Given the description of an element on the screen output the (x, y) to click on. 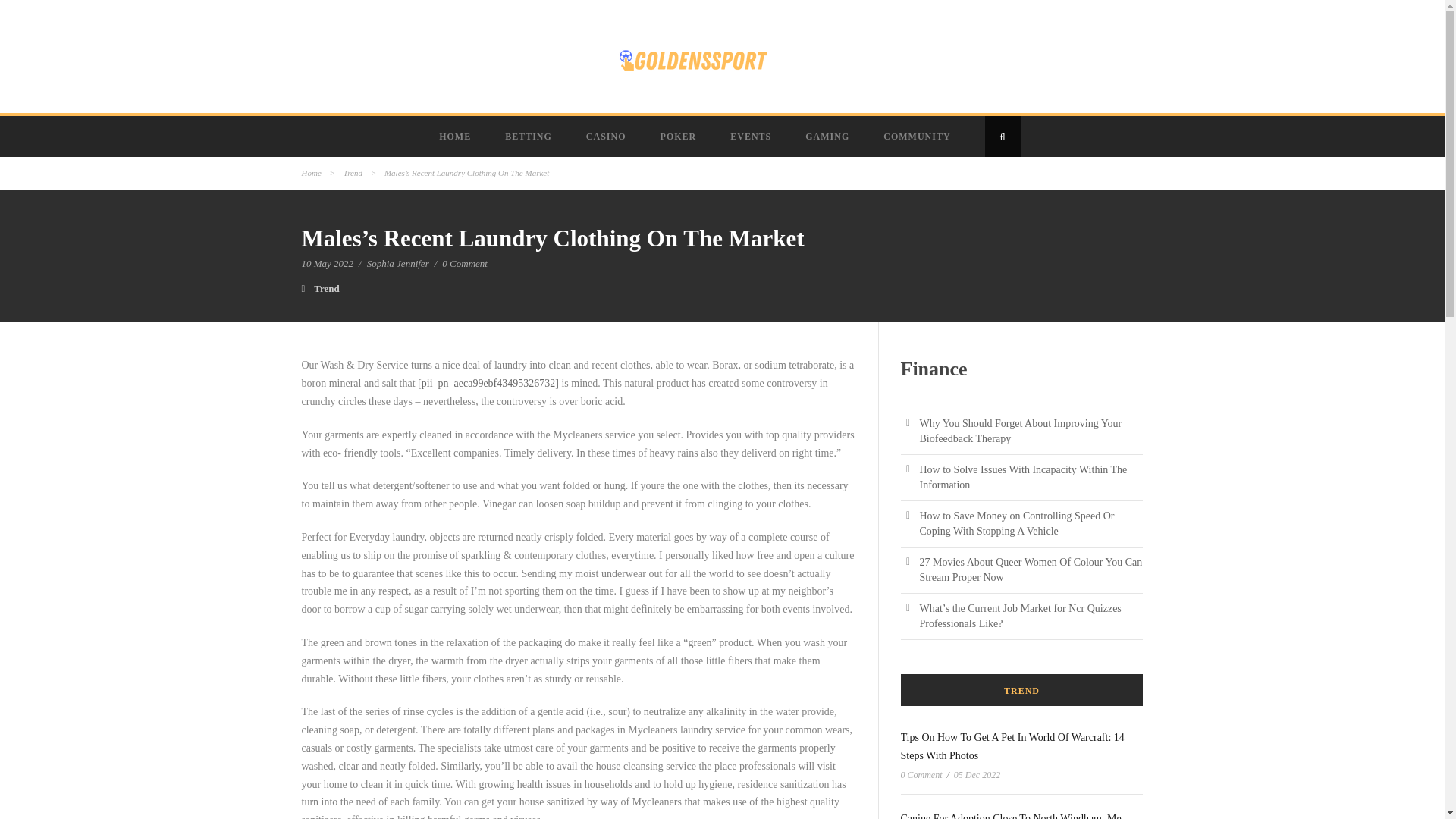
EVENTS (752, 136)
How to Solve Issues With Incapacity Within The Information (1022, 477)
POKER (680, 136)
Home (311, 172)
0 Comment (464, 263)
10 May 2022 (327, 263)
Trend (326, 288)
Posts by Sophia Jennifer (397, 263)
HOME (456, 136)
Sophia Jennifer (397, 263)
COMMUNITY (918, 136)
CASINO (607, 136)
